Given the description of an element on the screen output the (x, y) to click on. 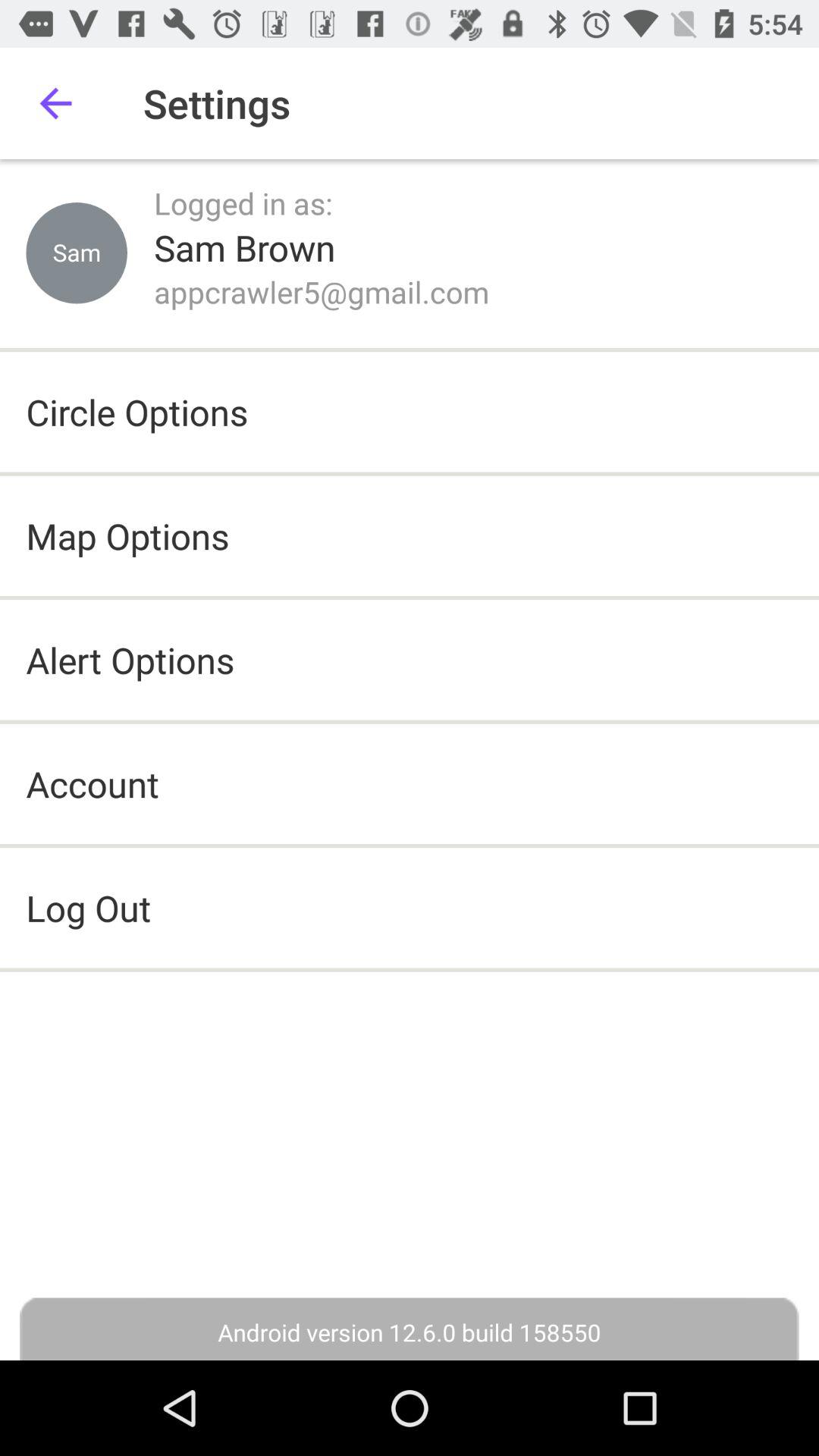
tap the item below the sam brown icon (321, 291)
